Given the description of an element on the screen output the (x, y) to click on. 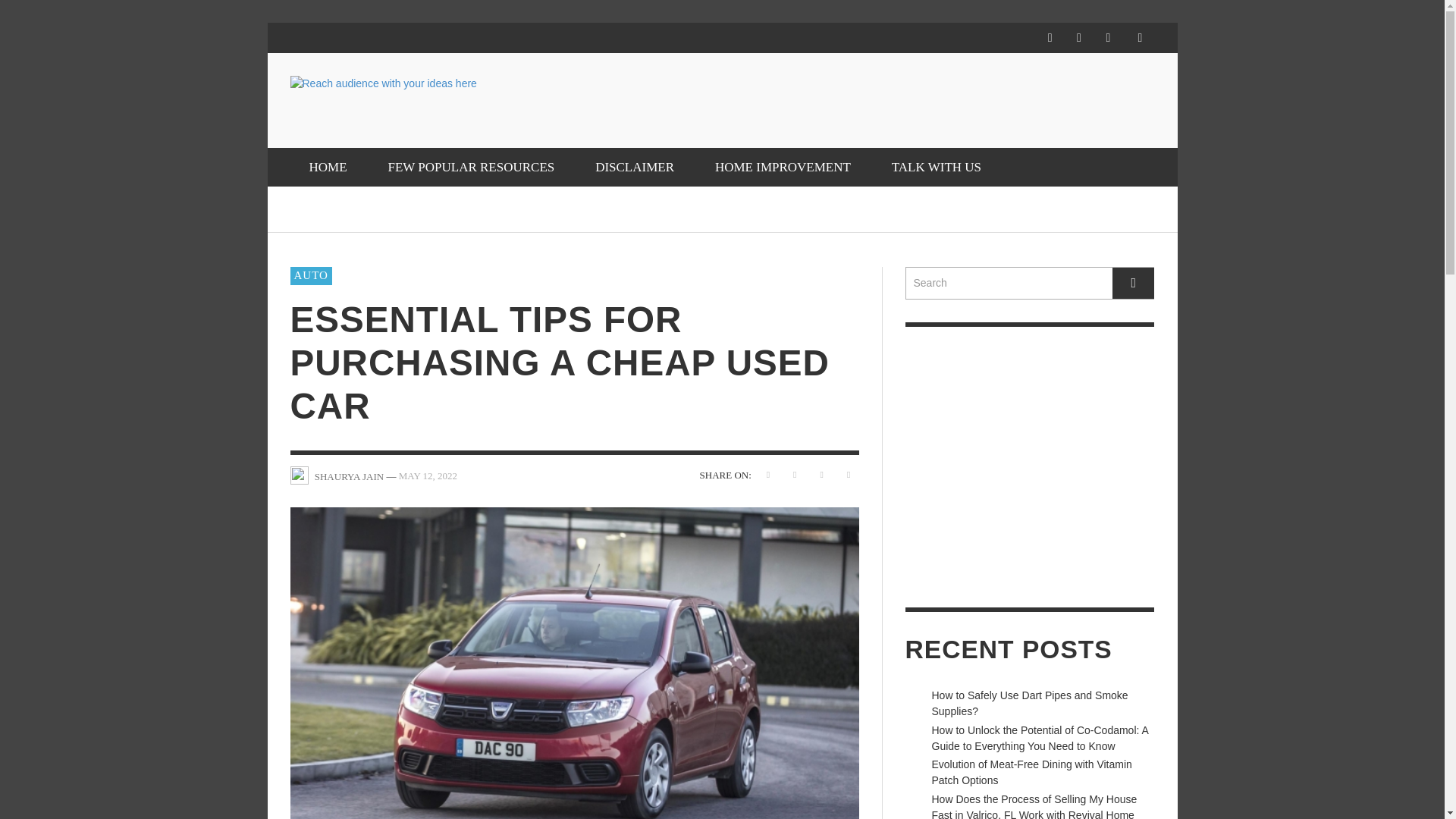
HOME (327, 167)
HOME IMPROVEMENT (782, 167)
Facebook (1049, 37)
FEW POPULAR RESOURCES (470, 167)
DISCLAIMER (634, 167)
TALK WITH US (936, 167)
Search (1029, 282)
Twitter (1107, 37)
